Given the description of an element on the screen output the (x, y) to click on. 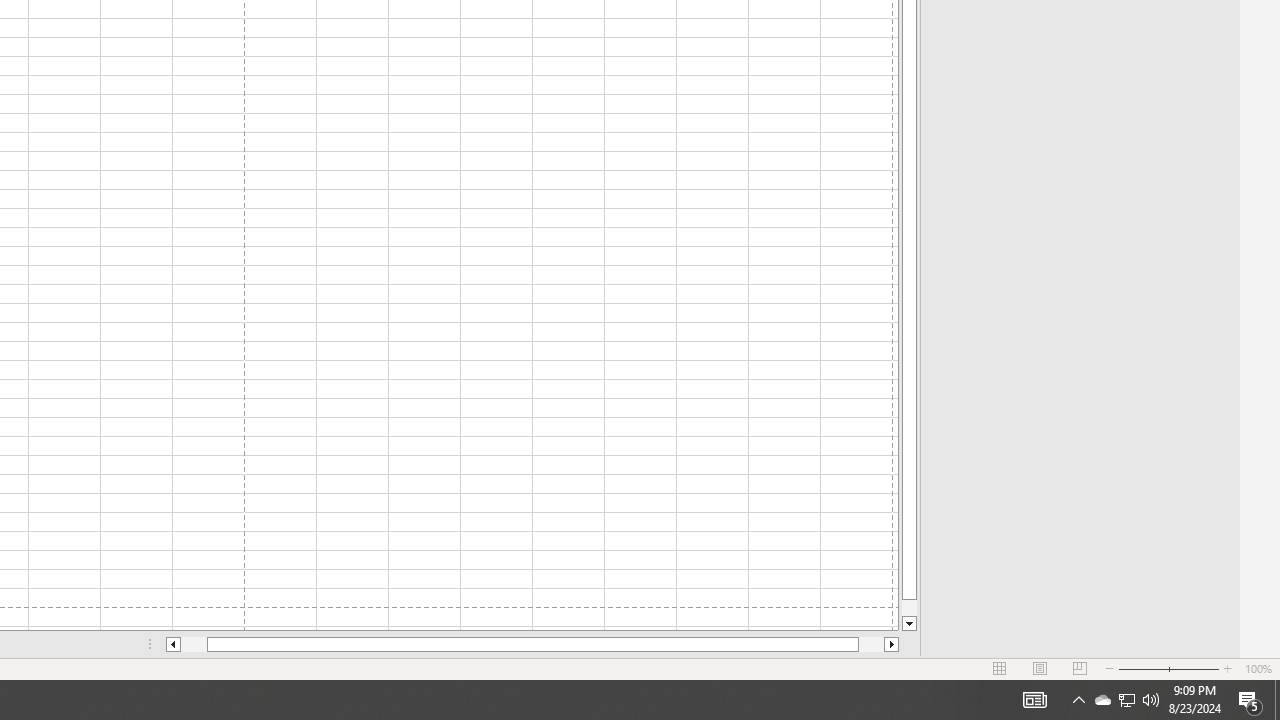
Page left (193, 644)
Normal (1000, 668)
Zoom In (1227, 668)
Zoom (1168, 668)
Page Break Preview (1079, 668)
Class: NetUIScrollBar (532, 644)
Zoom Out (1142, 668)
Column right (892, 644)
Column left (171, 644)
Line down (909, 624)
Page down (909, 607)
Page right (871, 644)
